Given the description of an element on the screen output the (x, y) to click on. 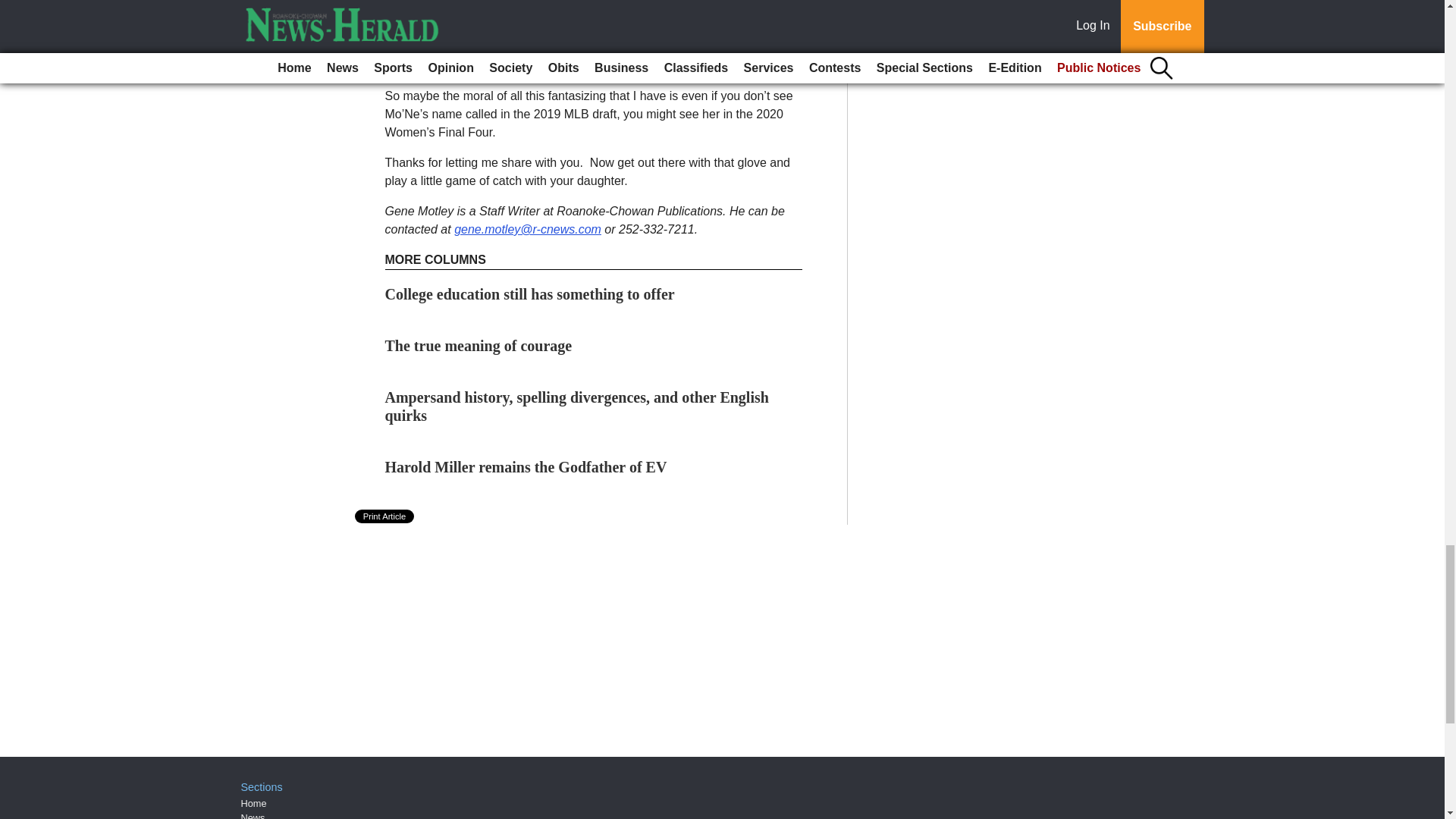
Print Article (384, 516)
The true meaning of courage (478, 345)
The true meaning of courage (478, 345)
Harold Miller remains the Godfather of EV (525, 466)
Harold Miller remains the Godfather of EV (525, 466)
College education still has something to offer (530, 293)
College education still has something to offer (530, 293)
